Given the description of an element on the screen output the (x, y) to click on. 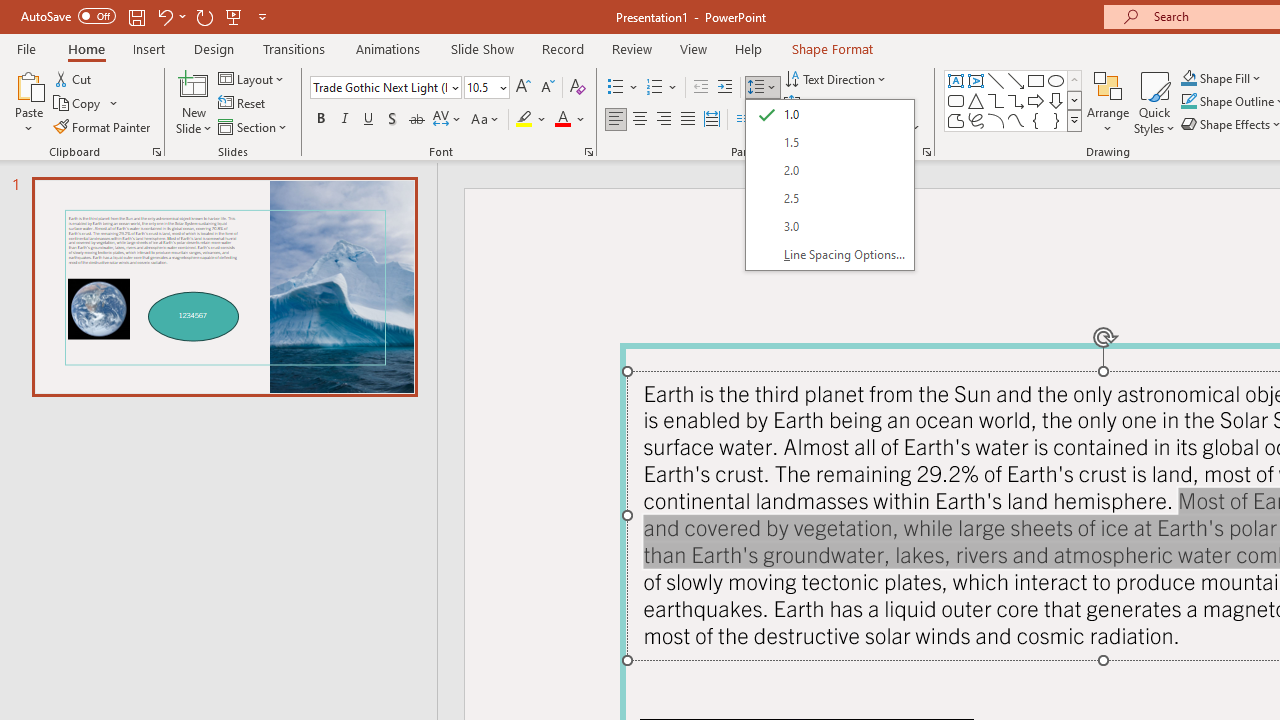
Shape Outline Teal, Accent 1 (1188, 101)
